Given the description of an element on the screen output the (x, y) to click on. 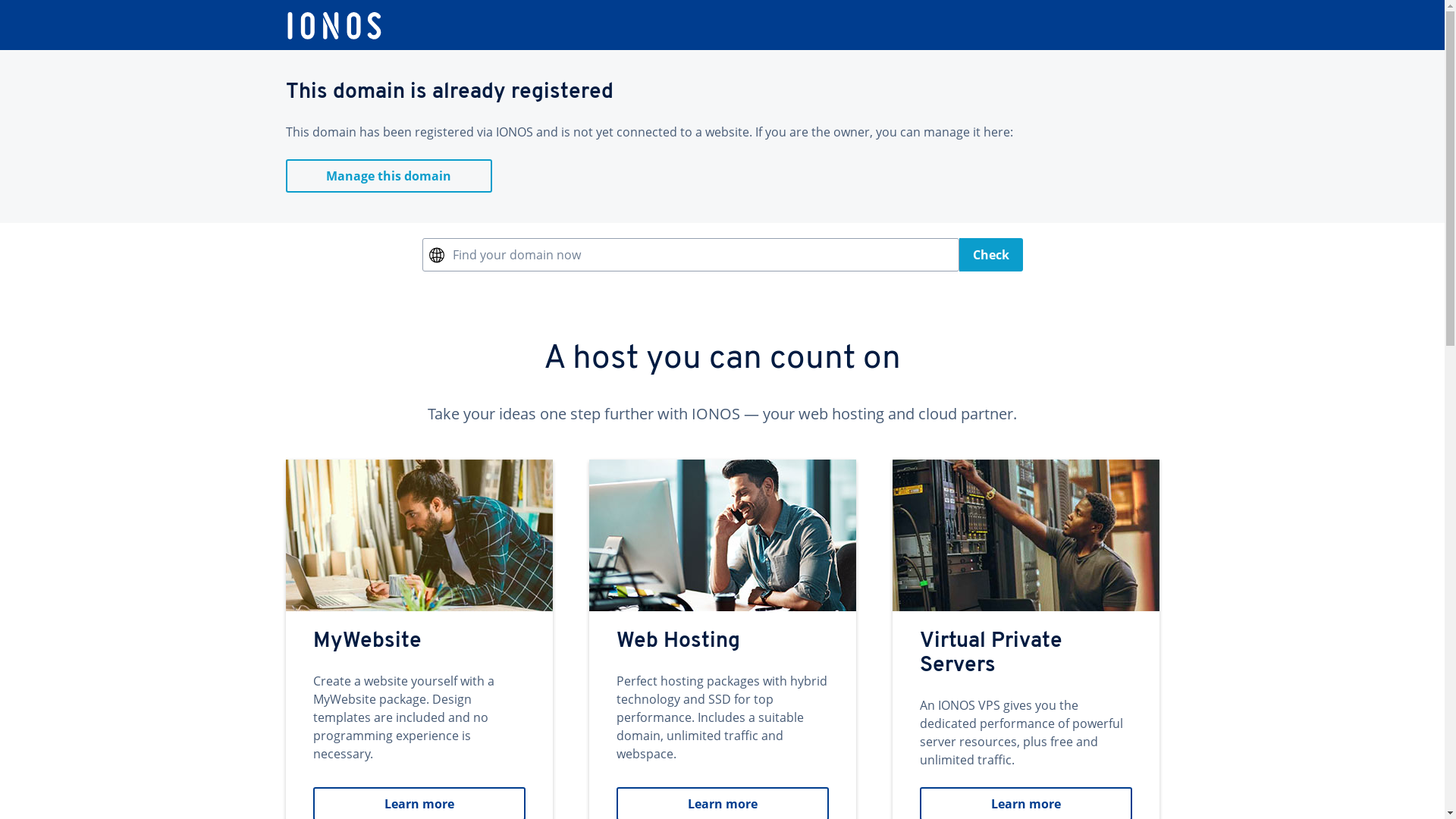
Check Element type: text (990, 254)
Manage this domain Element type: text (388, 175)
